Given the description of an element on the screen output the (x, y) to click on. 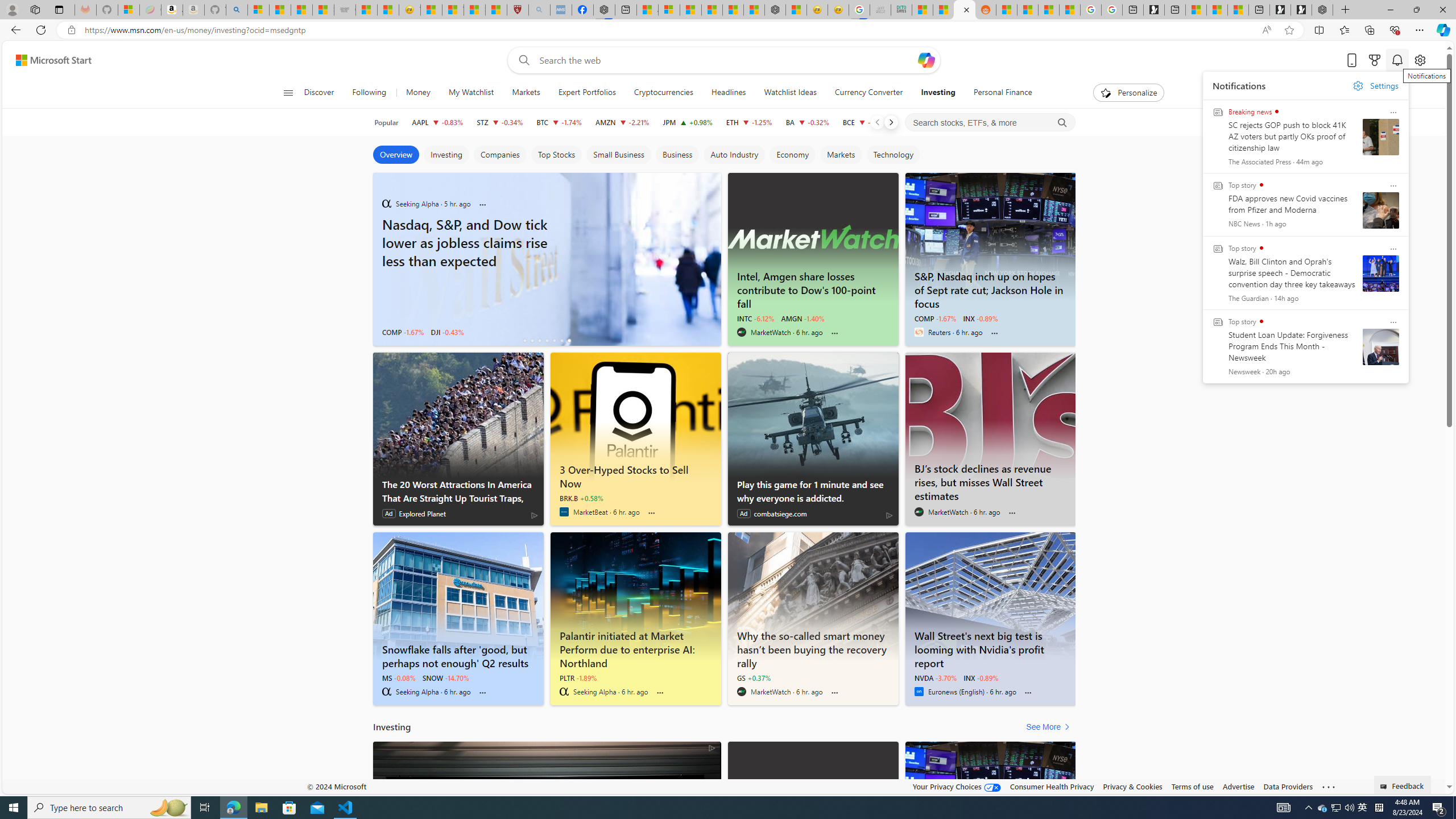
Overview (395, 154)
Notifications (1397, 60)
Terms of use (1192, 786)
Data Providers (1288, 786)
Open Copilot (925, 59)
Watchlist Ideas (790, 92)
Class: button-glyph (287, 92)
DJI -0.43% (447, 331)
NCL Adult Asthma Inhaler Choice Guideline - Sleeping (561, 9)
Discover (319, 92)
Skip to footer (46, 59)
